Given the description of an element on the screen output the (x, y) to click on. 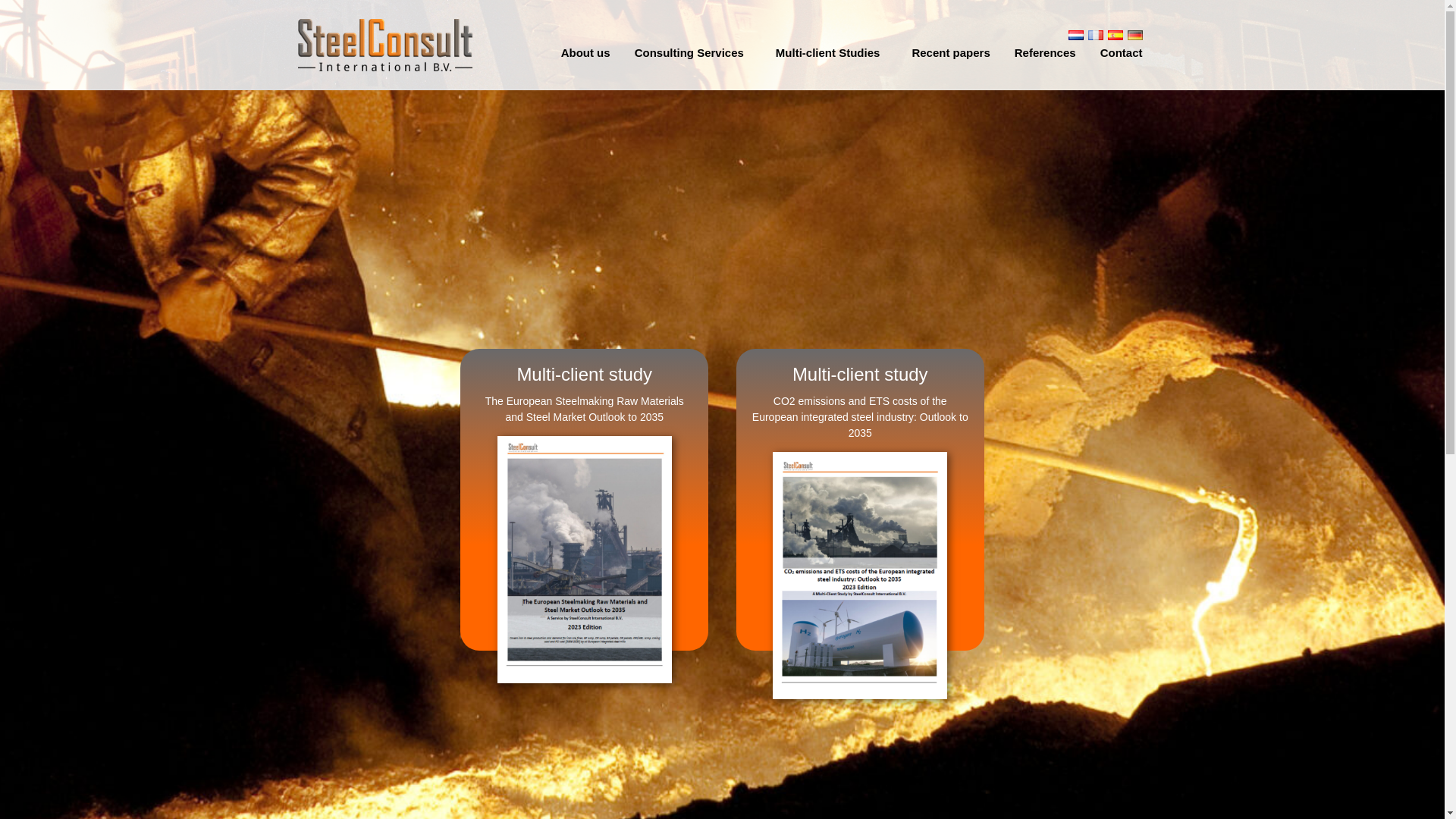
Consulting Services (692, 53)
Multi-client Studies (830, 53)
Recent papers (950, 53)
References (1045, 53)
About us (585, 53)
